Given the description of an element on the screen output the (x, y) to click on. 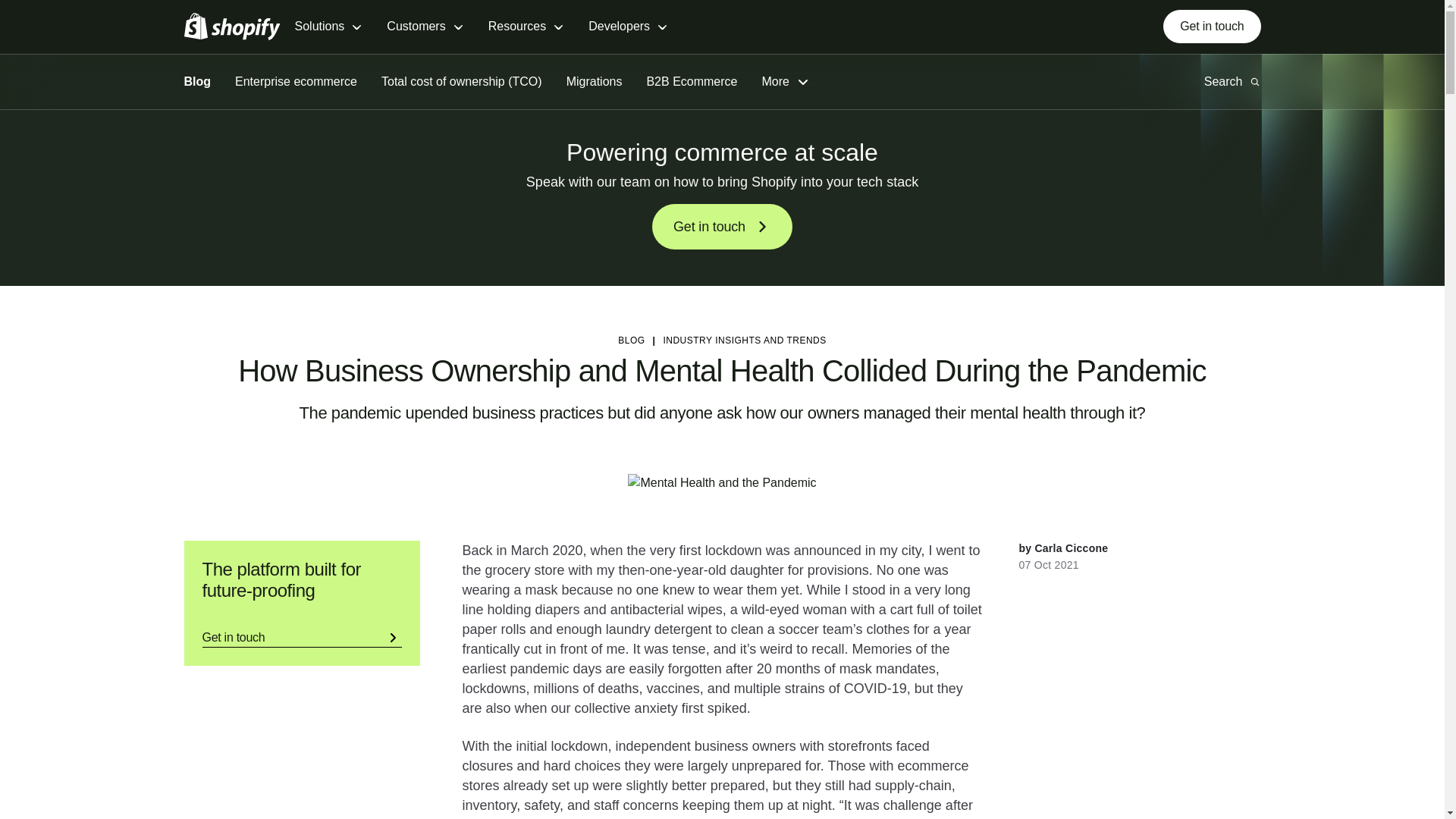
Resources (525, 27)
Solutions (328, 27)
Customers (425, 27)
Developers (628, 27)
